Given the description of an element on the screen output the (x, y) to click on. 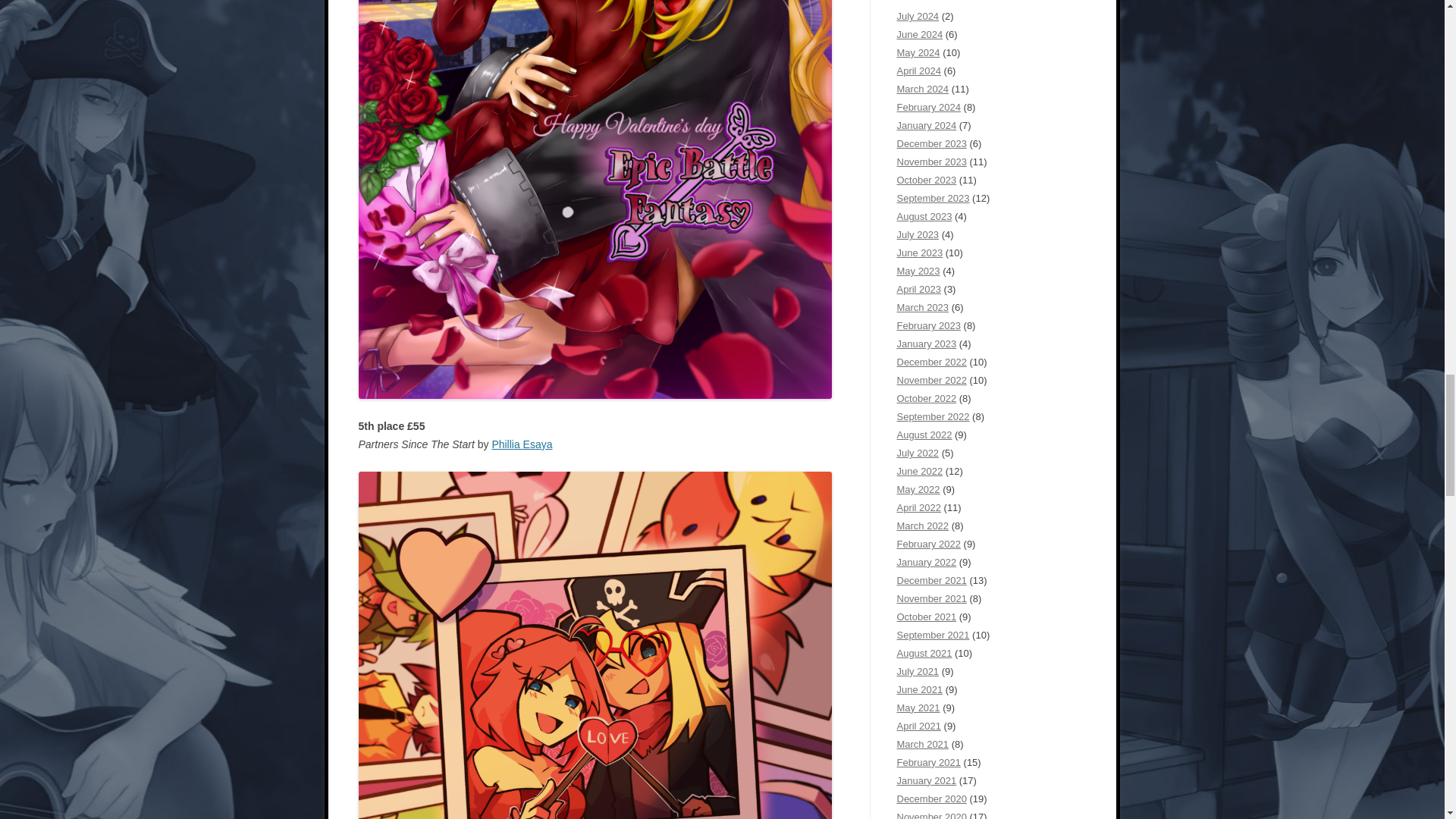
Phillia Esaya (521, 444)
